Given the description of an element on the screen output the (x, y) to click on. 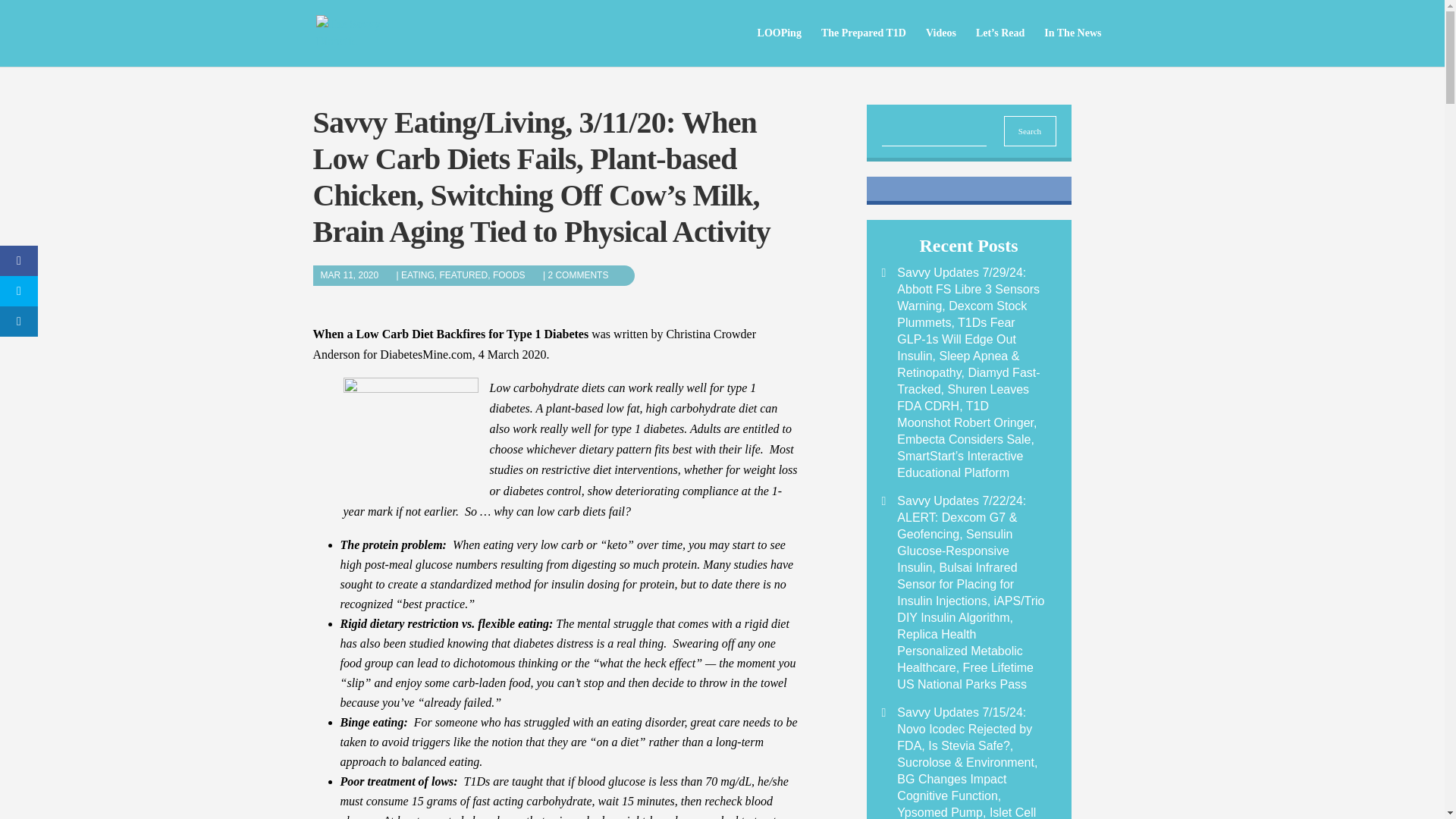
Search (1030, 131)
FEATURED (463, 275)
The Prepared T1D (863, 46)
LOOPing (779, 46)
Search (1030, 131)
2 COMMENTS (585, 275)
EATING (417, 275)
FOODS (516, 275)
In The News (1071, 46)
